Given the description of an element on the screen output the (x, y) to click on. 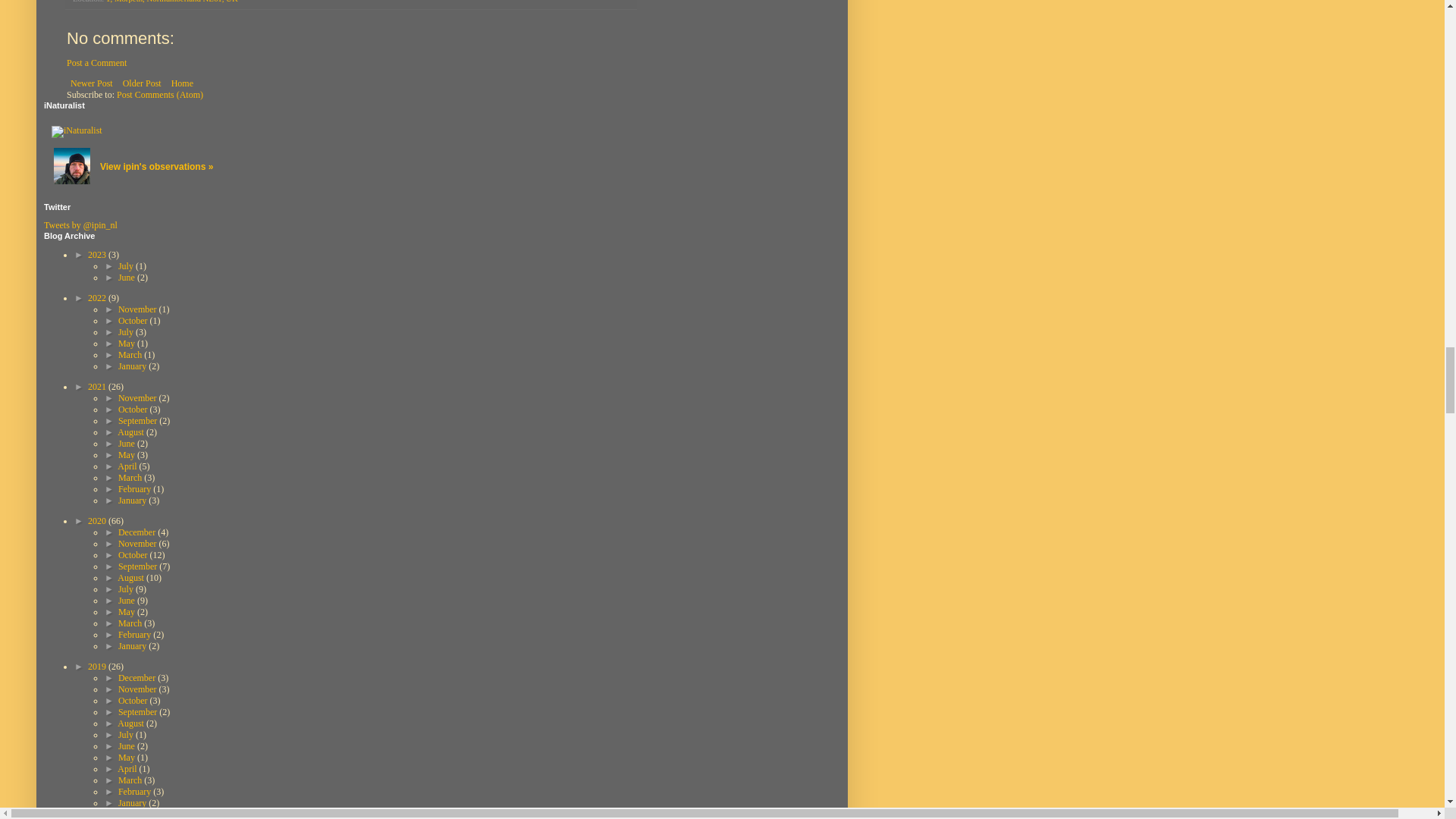
Newer Post (91, 83)
Older Post (142, 83)
Post a Comment (96, 62)
Newer Post (91, 83)
1, Morpeth, Northumberland NE61, UK (172, 1)
Older Post (142, 83)
